Given the description of an element on the screen output the (x, y) to click on. 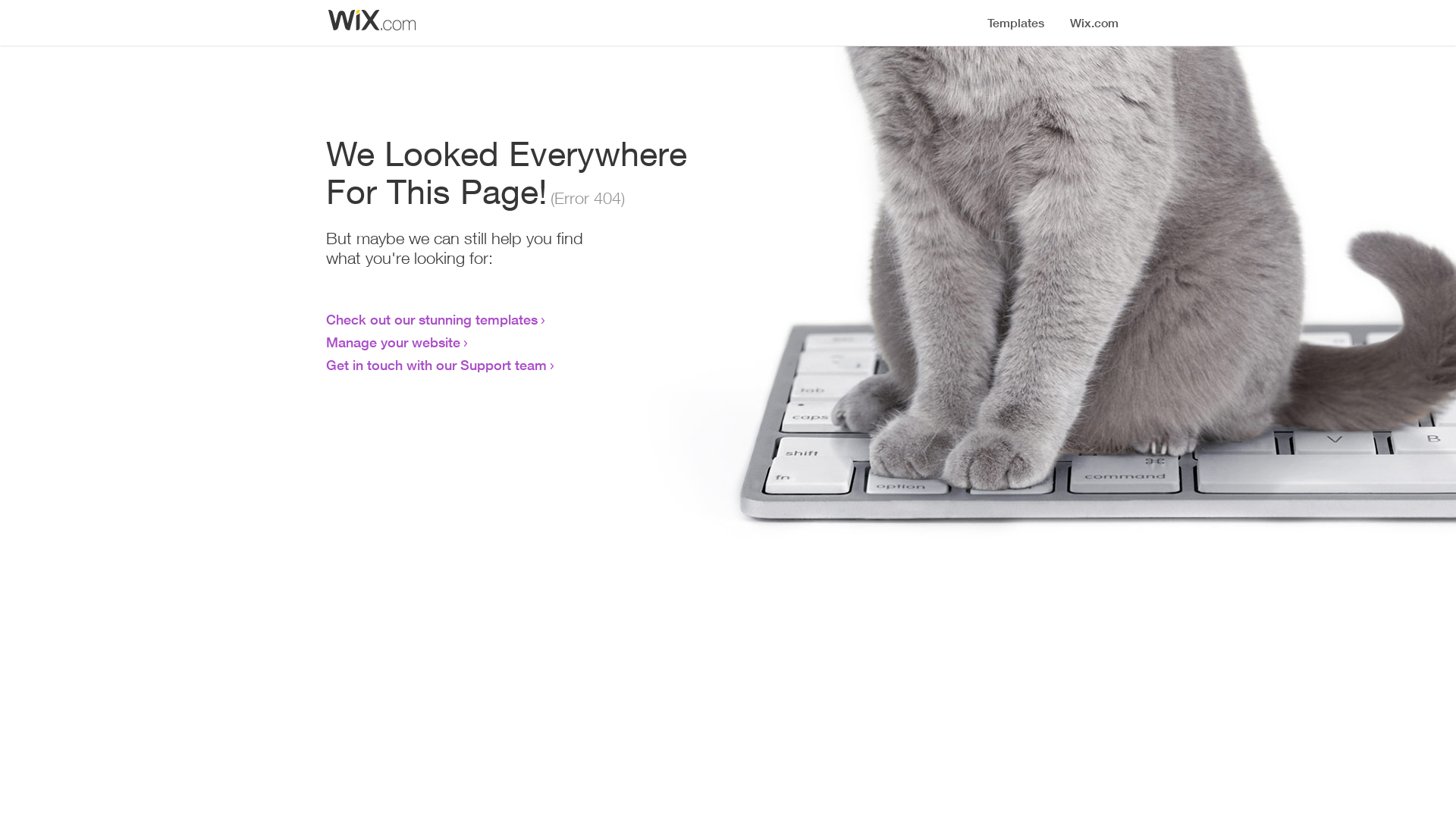
Manage your website Element type: text (393, 341)
Get in touch with our Support team Element type: text (436, 364)
Check out our stunning templates Element type: text (431, 318)
